Given the description of an element on the screen output the (x, y) to click on. 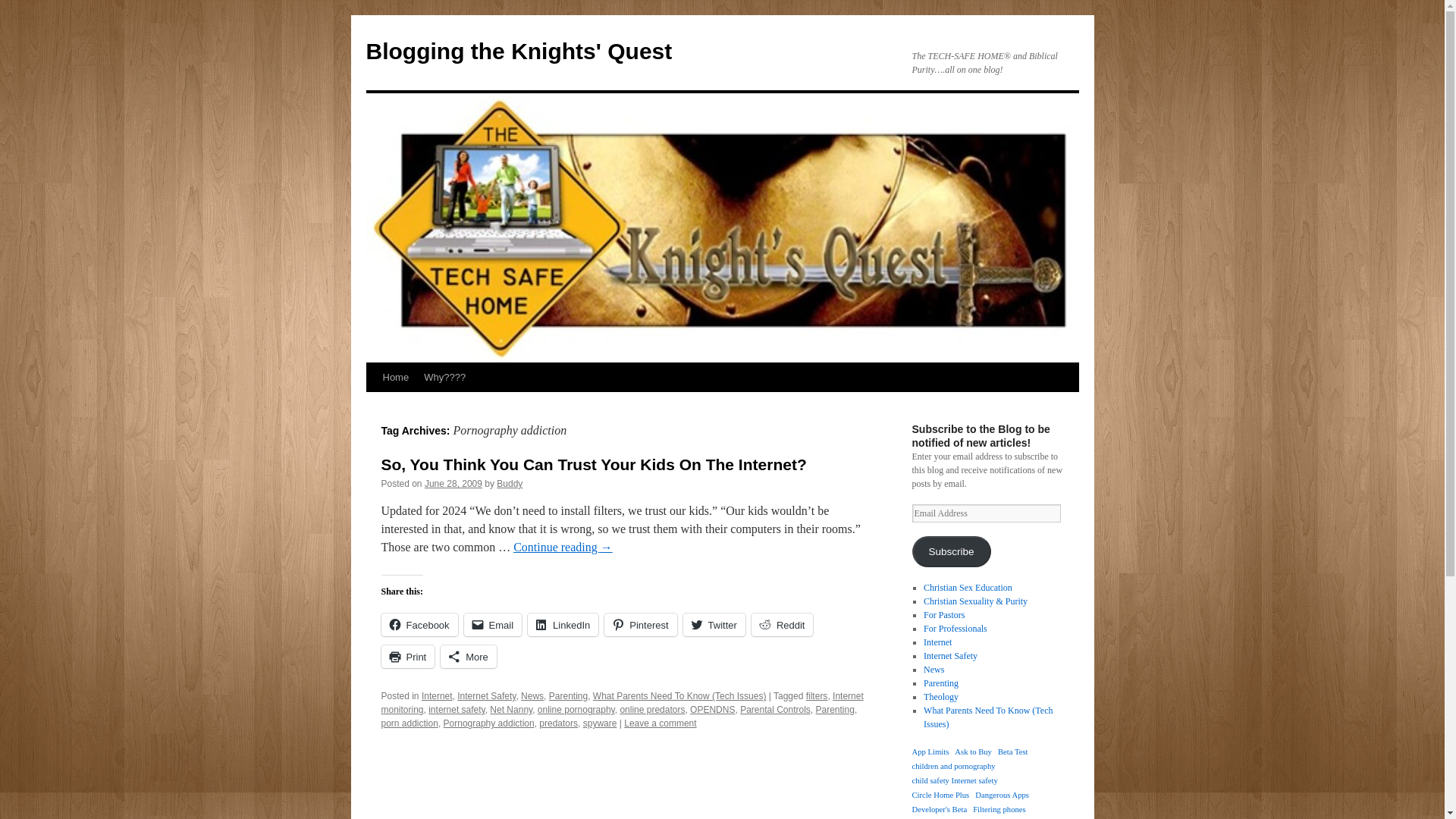
Click to share on LinkedIn (562, 624)
Why???? (444, 377)
Internet (437, 696)
Click to share on Pinterest (640, 624)
Internet Safety (486, 696)
online predators (652, 709)
Subscribe (950, 551)
Click to share on Reddit (782, 624)
9:31 pm (453, 483)
Click to share on Facebook (418, 624)
online pornography (575, 709)
Reddit (782, 624)
Blogging the Knights' Quest (518, 50)
filters (817, 696)
View all posts by Buddy (509, 483)
